Given the description of an element on the screen output the (x, y) to click on. 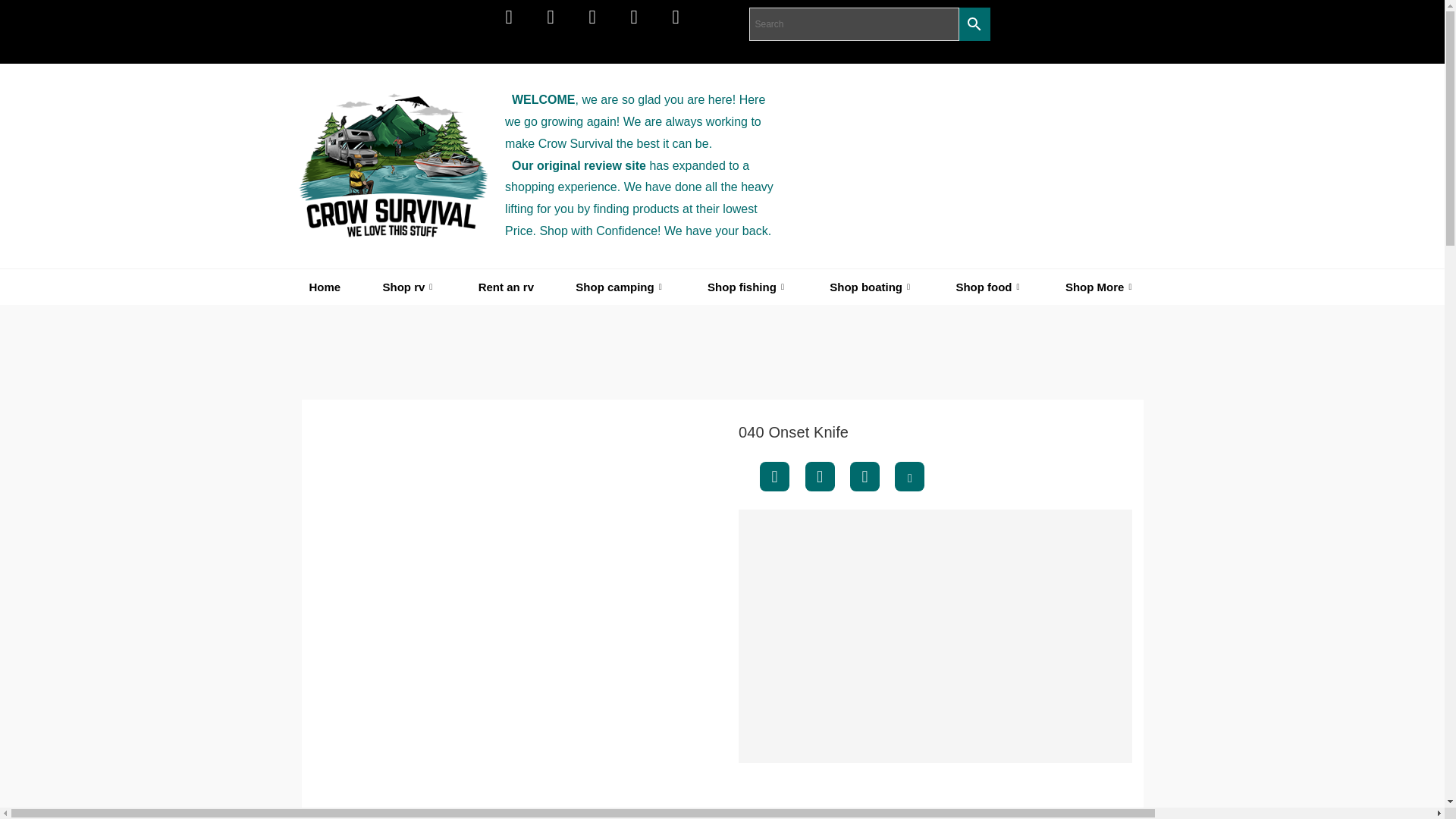
Home (324, 286)
Shop rv (409, 286)
Share by Email (909, 476)
